Given the description of an element on the screen output the (x, y) to click on. 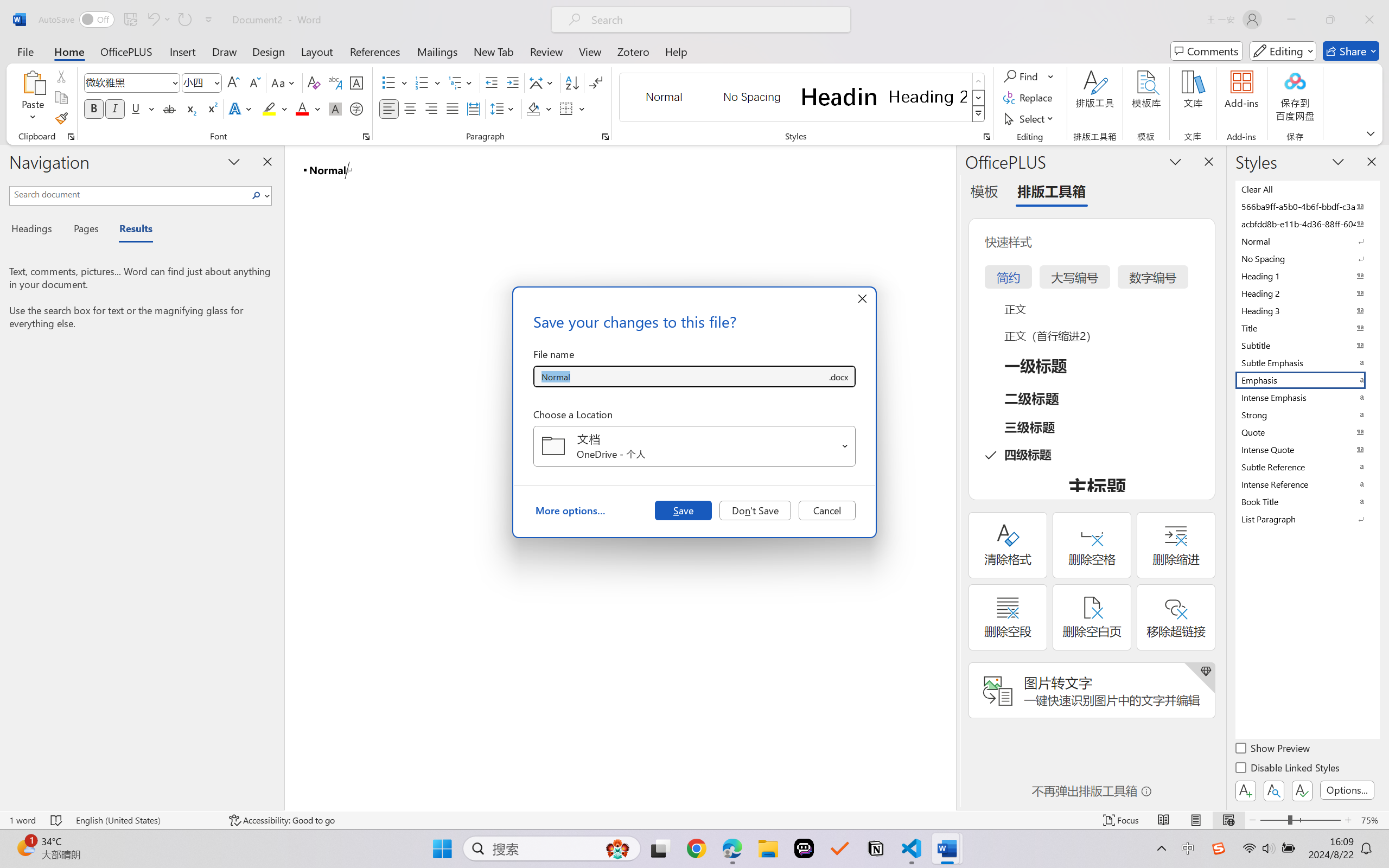
Restore Down (1330, 19)
Language English (United States) (144, 819)
Font Size (201, 82)
Font Color Red (302, 108)
Font... (365, 136)
Text Effects and Typography (241, 108)
Character Shading (334, 108)
Intense Quote (1306, 449)
Zoom (1300, 819)
Distributed (473, 108)
AutoSave (76, 19)
